Given the description of an element on the screen output the (x, y) to click on. 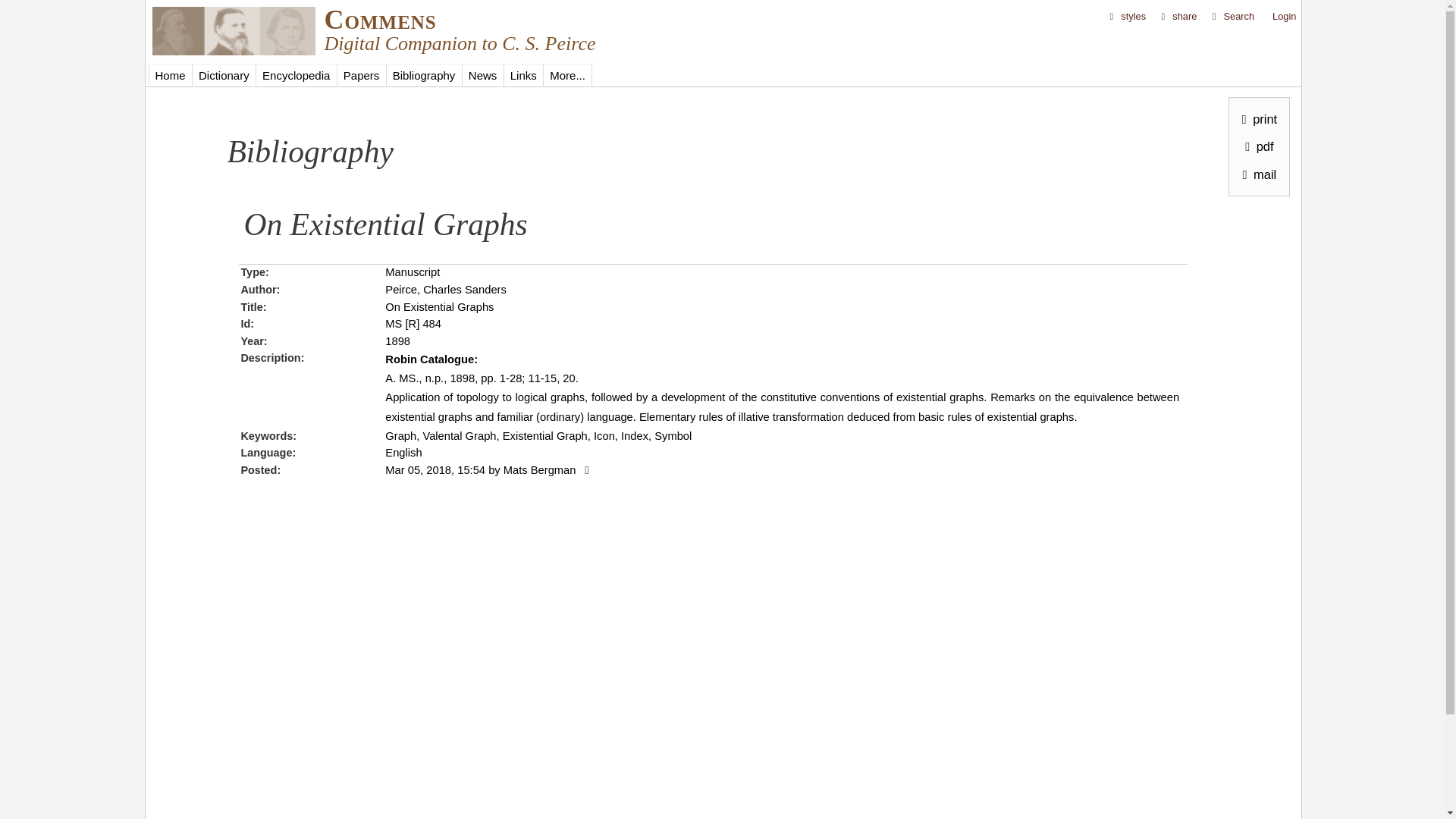
pdf (1256, 146)
Download this Manuscript as a pdf file (1256, 146)
Share this page on social media (1177, 16)
Graph (400, 435)
Links (523, 74)
Commens (380, 19)
Home (170, 74)
More... (567, 74)
mail (1256, 173)
Valental Graph (459, 435)
